Given the description of an element on the screen output the (x, y) to click on. 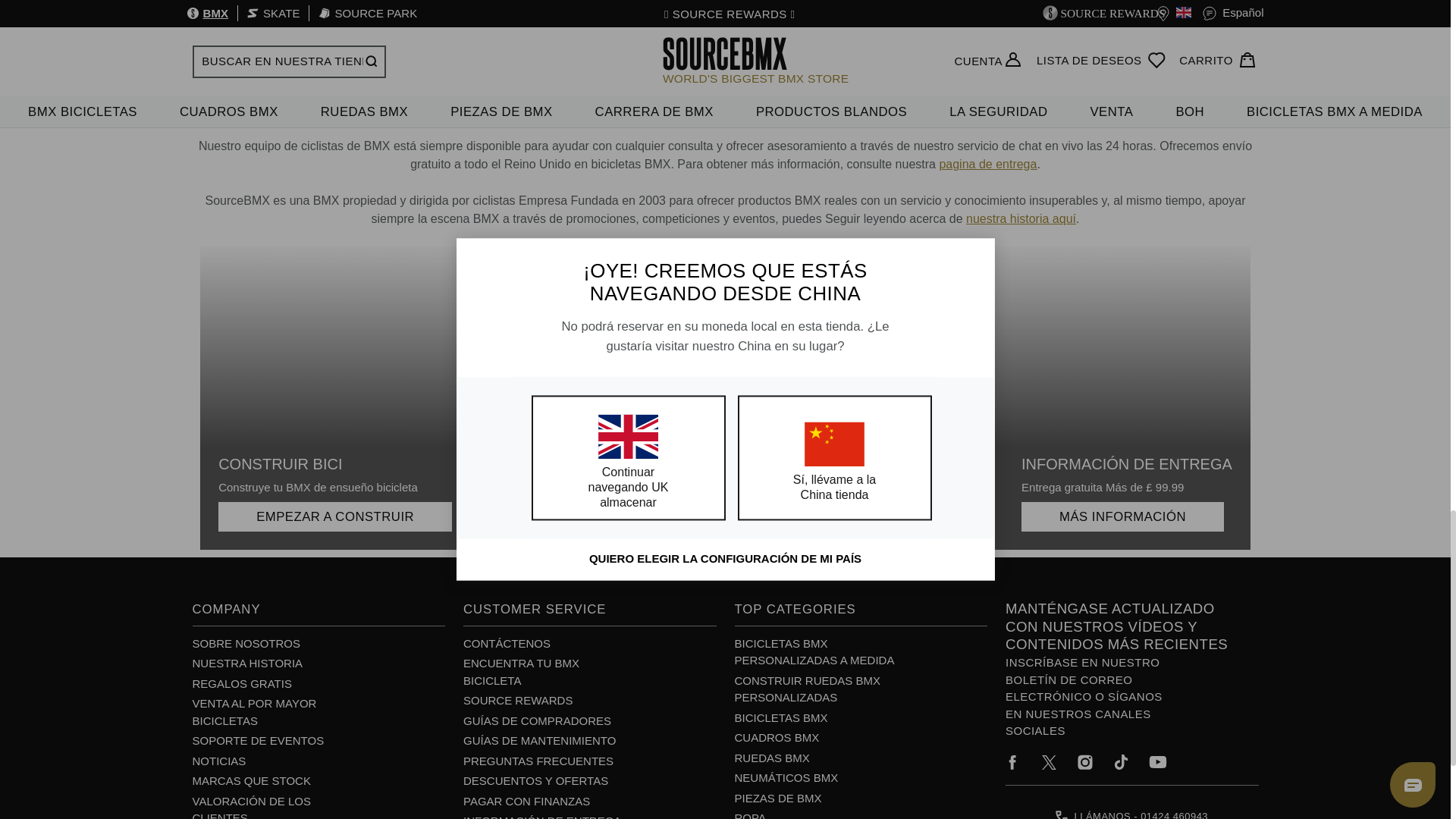
Source BMX en Facebook (1012, 762)
Source BMX en Instagram (1084, 762)
Source BMX en Twitter (1048, 762)
Source BMX en Tumblr (1121, 761)
Source BMX en YouTube (1157, 762)
